Given the description of an element on the screen output the (x, y) to click on. 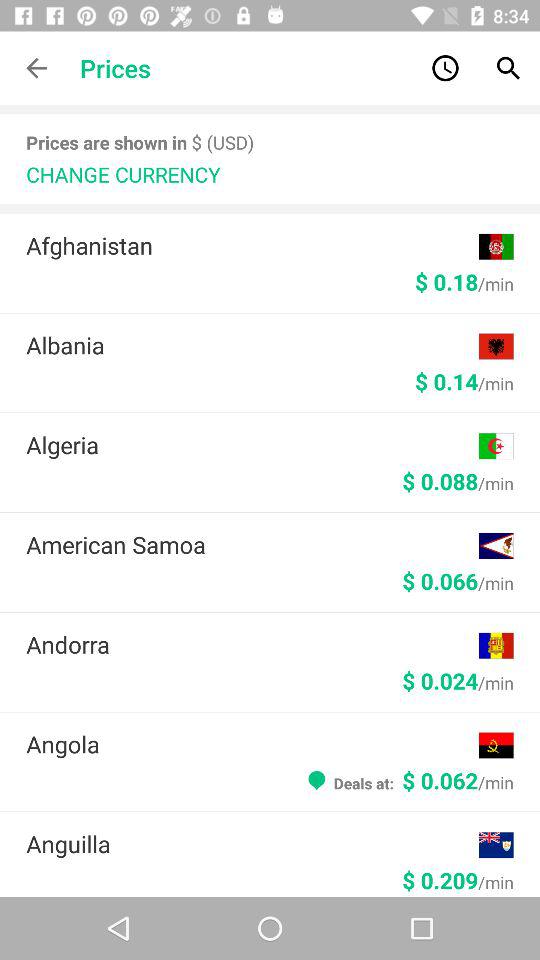
tap item below angola item (408, 780)
